Given the description of an element on the screen output the (x, y) to click on. 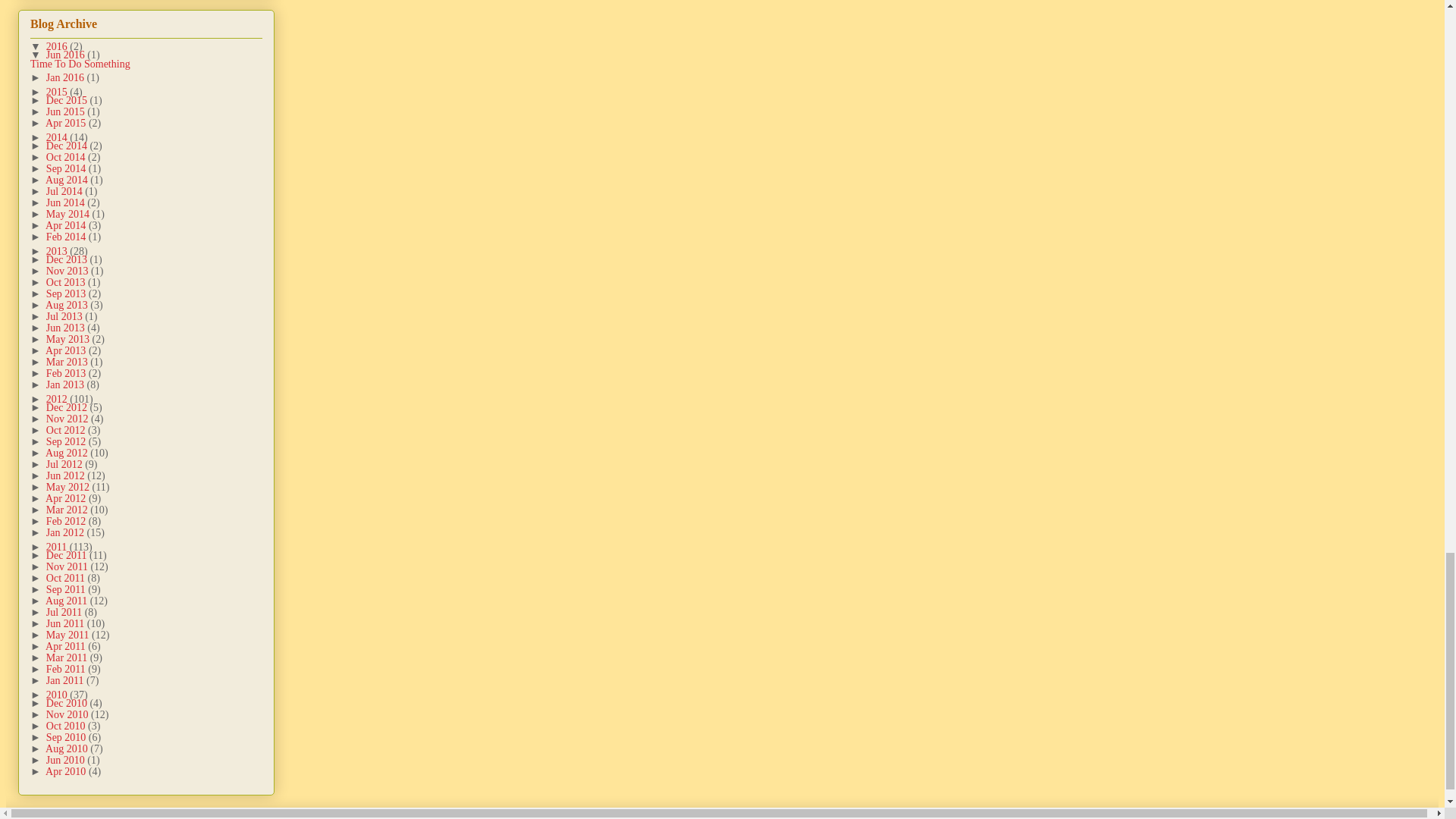
Time To Do Something (80, 63)
Jun 2016 (66, 54)
2016 (57, 46)
Jan 2016 (66, 77)
